Given the description of an element on the screen output the (x, y) to click on. 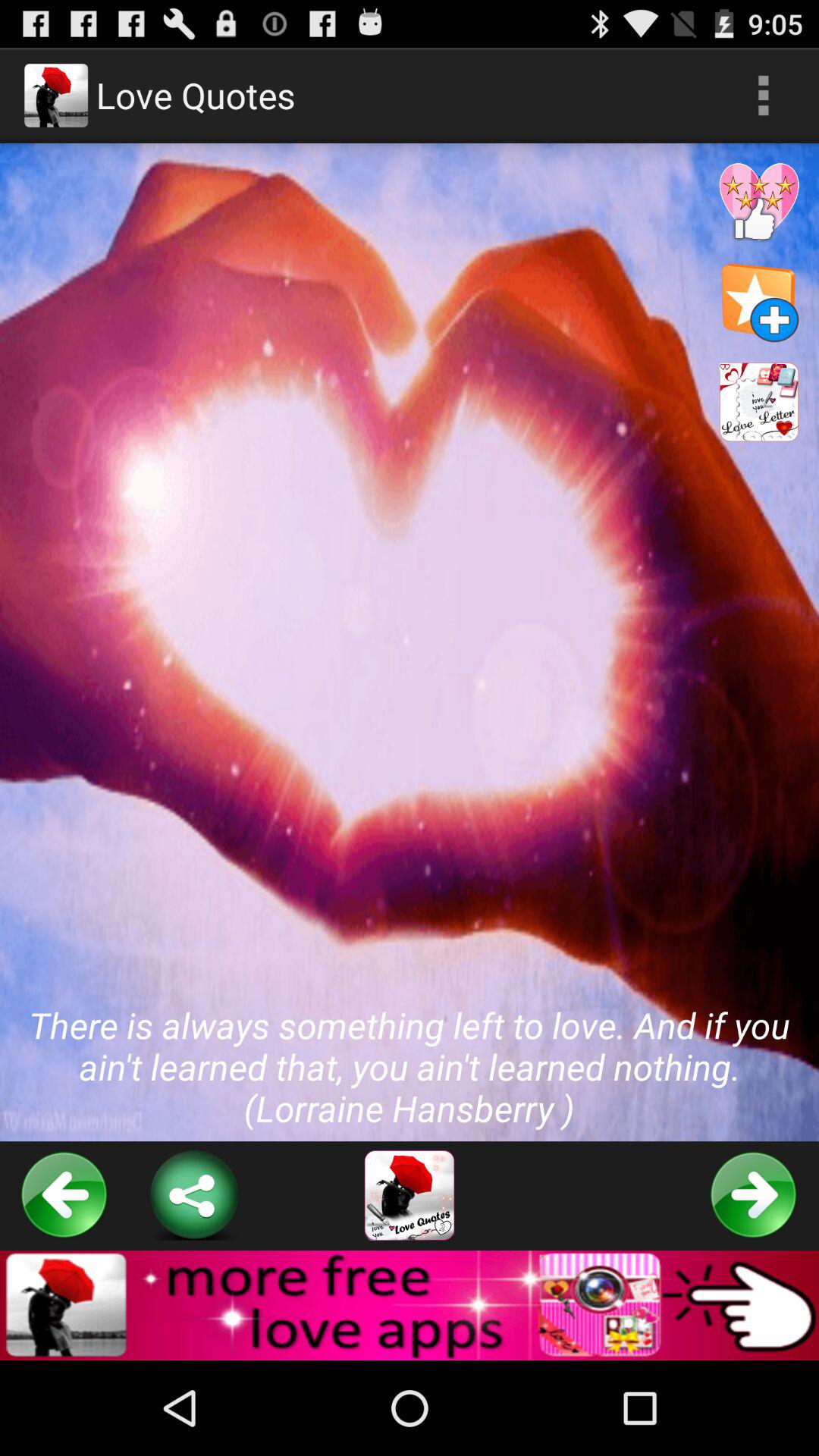
press icon above there is always button (763, 95)
